Given the description of an element on the screen output the (x, y) to click on. 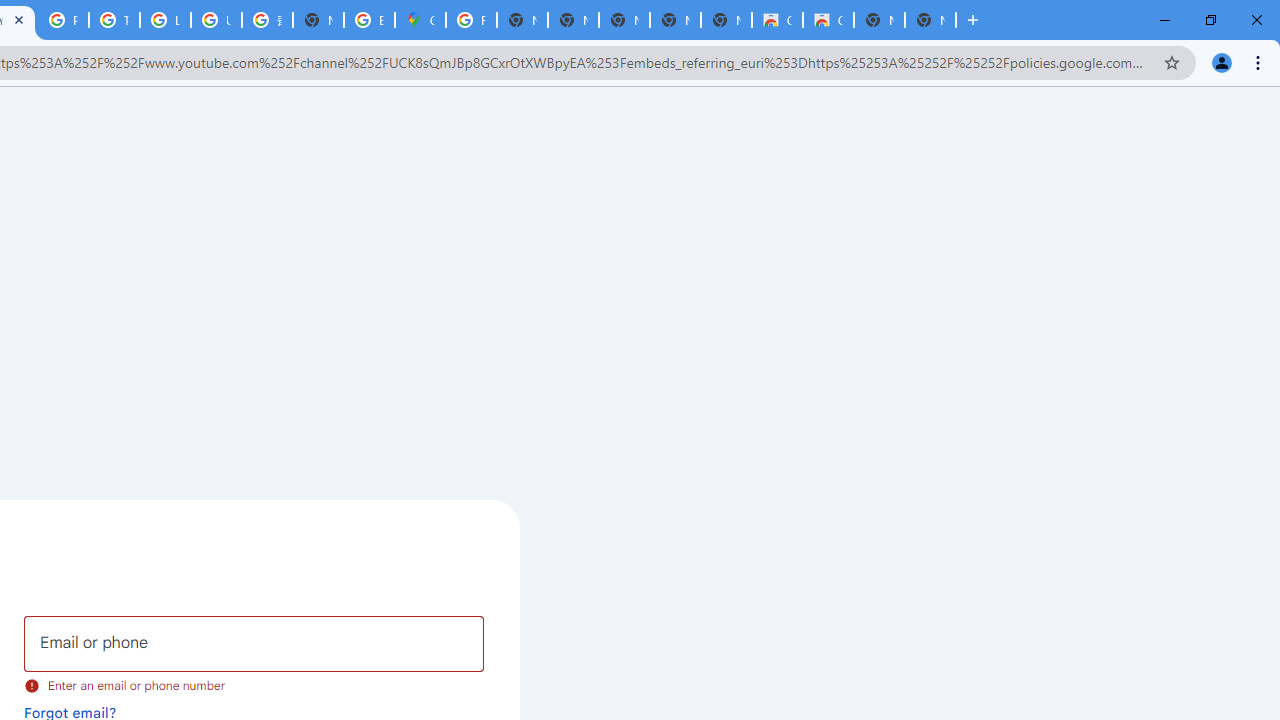
Google Maps (420, 20)
